Given the description of an element on the screen output the (x, y) to click on. 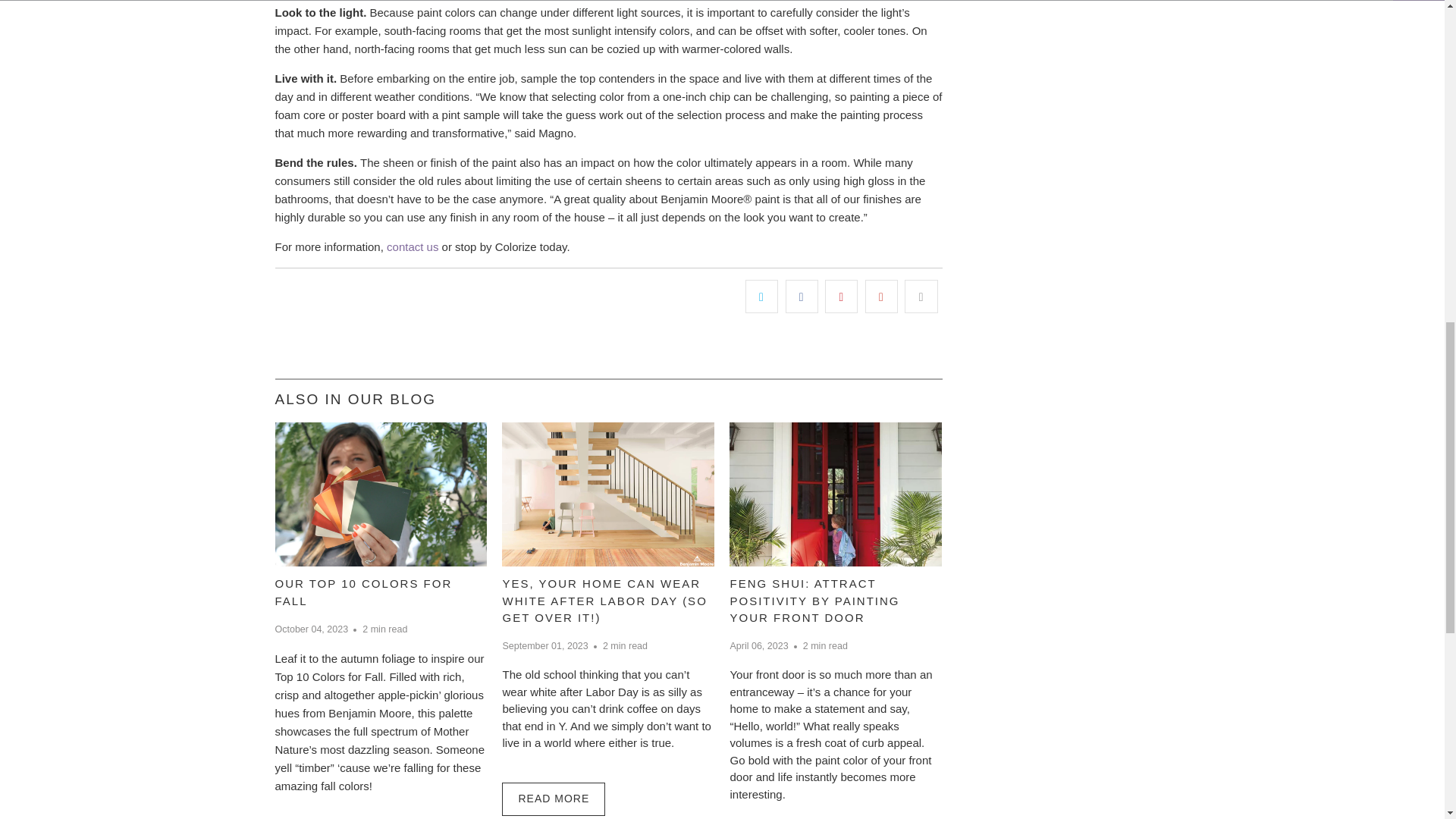
Share this on Pinterest (841, 296)
Share this on Facebook (802, 296)
Share this on Twitter (761, 296)
